Given the description of an element on the screen output the (x, y) to click on. 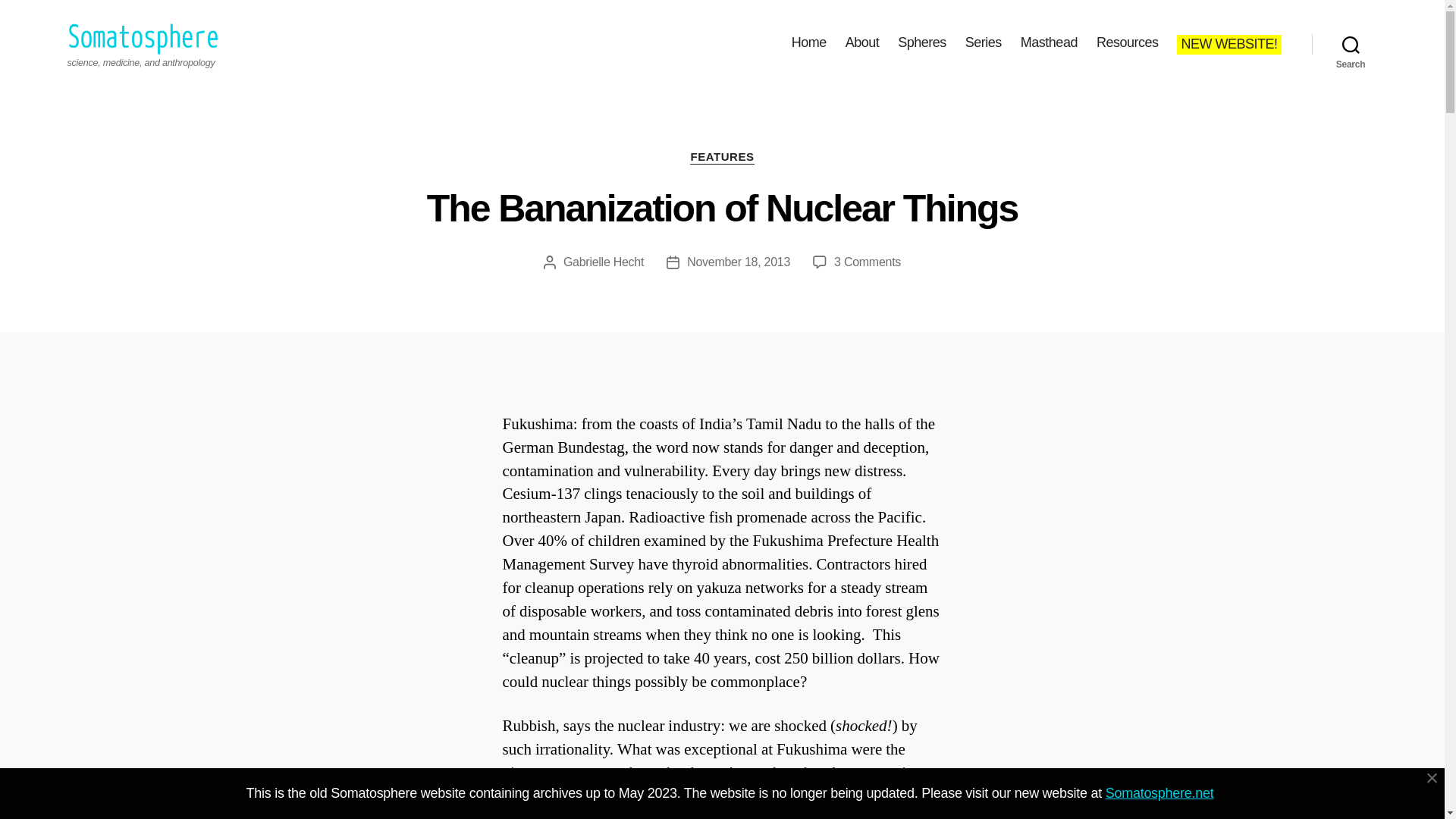
November 18, 2013 (738, 261)
Spheres (922, 43)
Home (809, 43)
NEW WEBSITE! (1228, 44)
About (862, 43)
Series (983, 43)
FEATURES (722, 157)
Posts by Gabrielle Hecht (603, 261)
Resources (1127, 43)
Gabrielle Hecht (603, 261)
Search (867, 261)
science, medicine, and anthropology (1350, 44)
Masthead (142, 40)
